Given the description of an element on the screen output the (x, y) to click on. 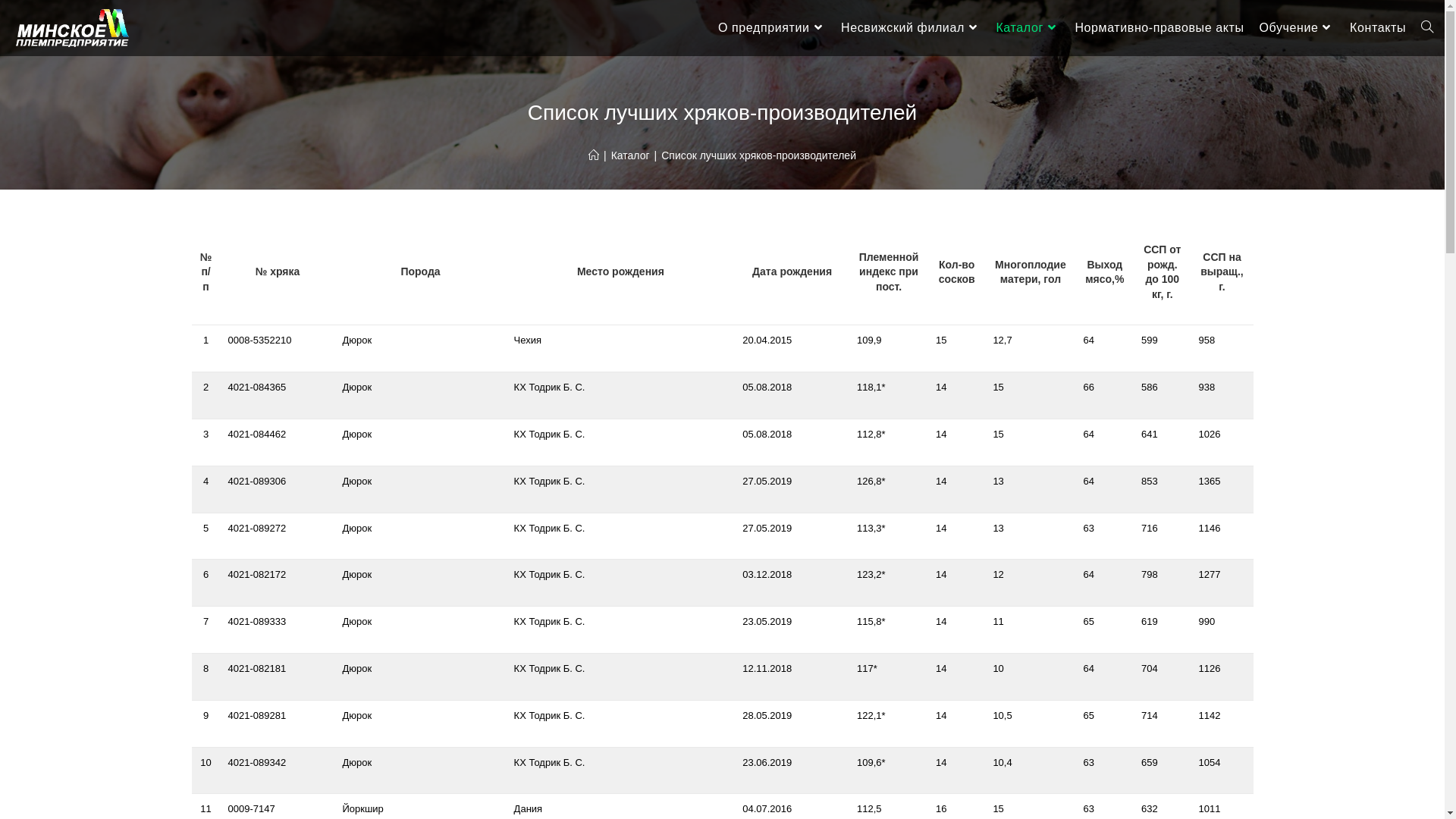
+375 (17) 374-54-67 Element type: text (609, 641)
+375 (17) 272-39-78 Element type: text (875, 689)
+375 (17) 244-54-41 Element type: text (609, 686)
info@plemminsk.by Element type: text (293, 748)
+375 (17) 378-38-00 Element type: text (1140, 657)
